Given the description of an element on the screen output the (x, y) to click on. 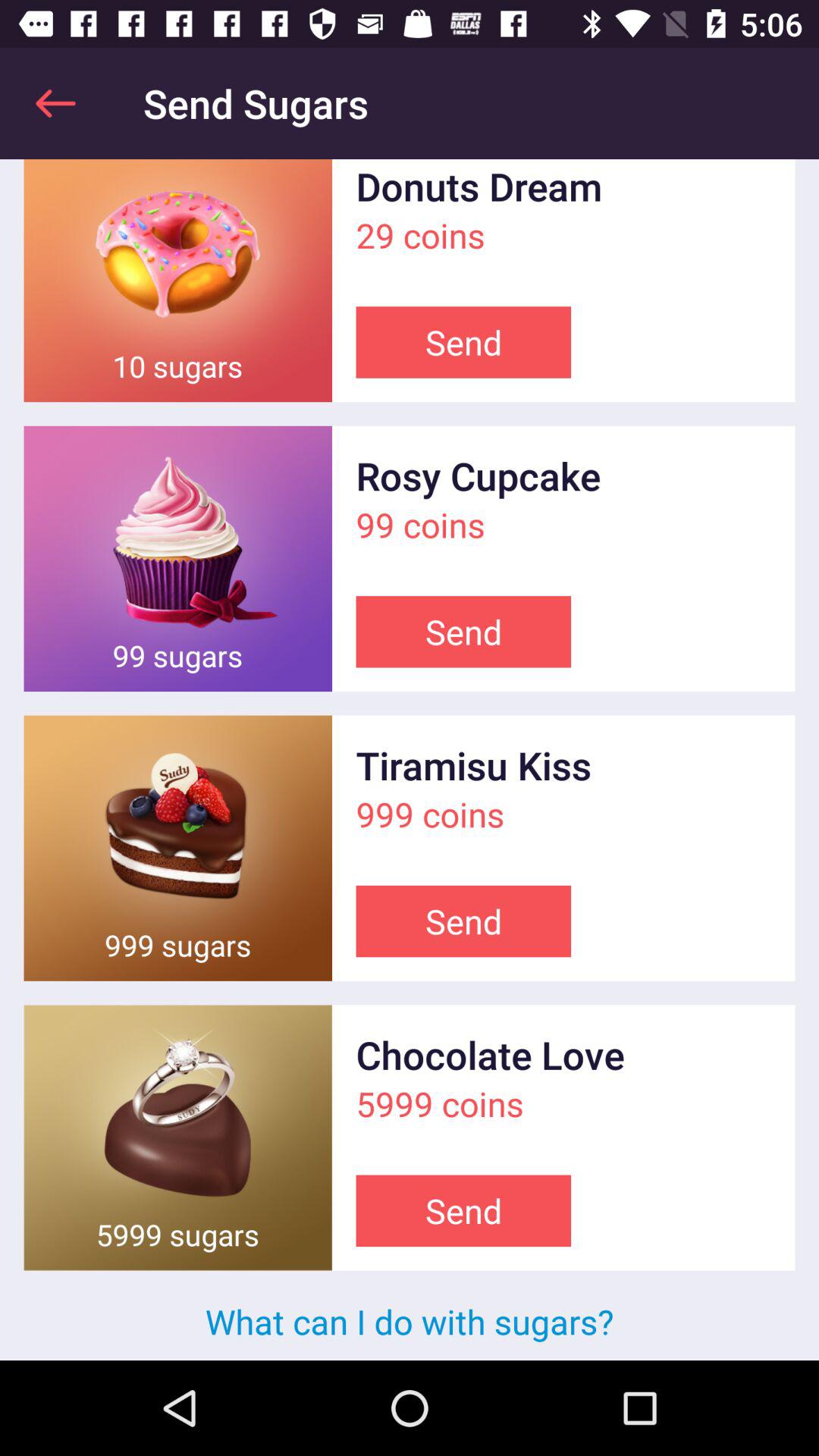
open picture (177, 848)
